Given the description of an element on the screen output the (x, y) to click on. 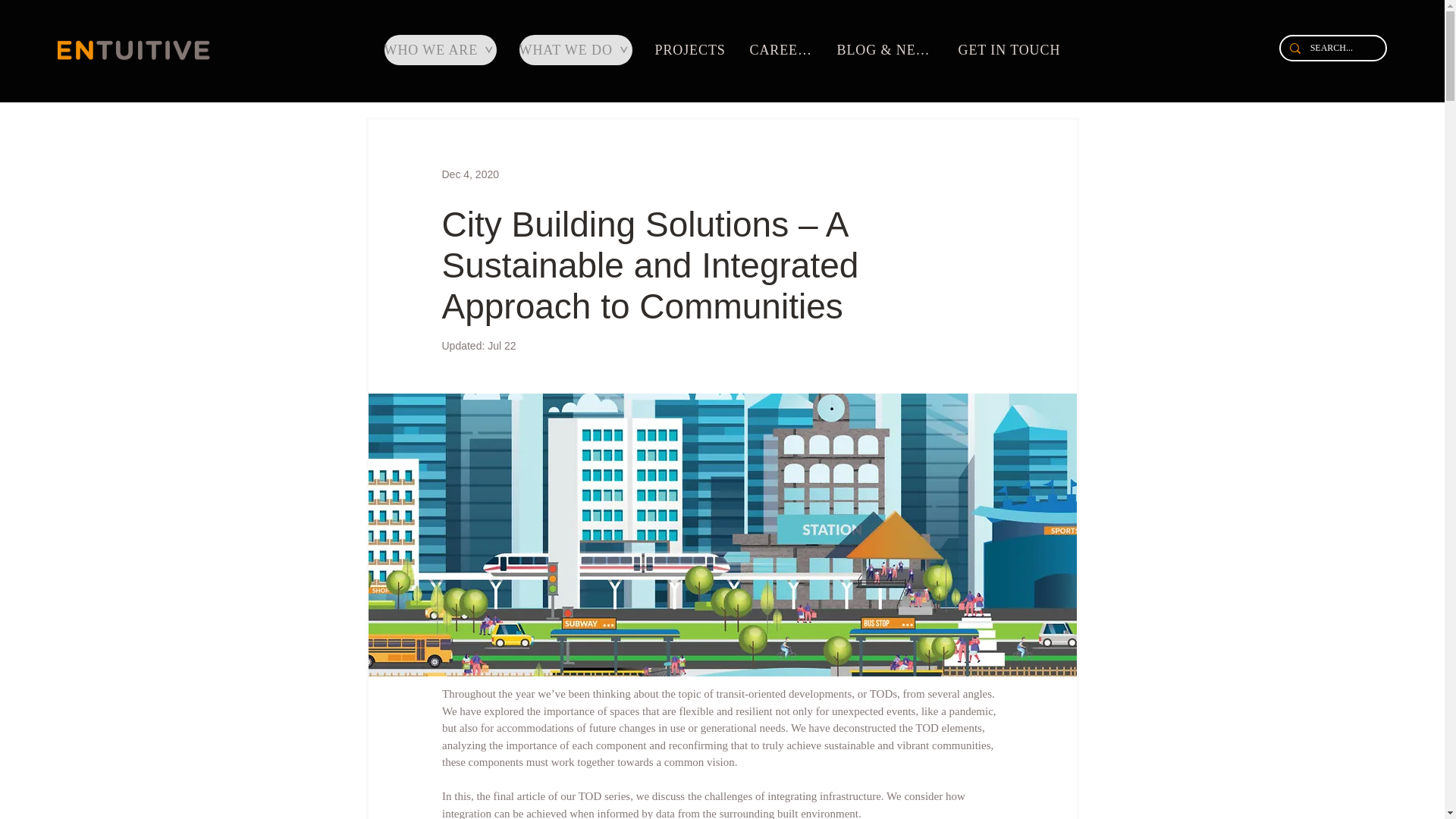
PROJECTS (692, 50)
Jul 22 (501, 345)
GET IN TOUCH (1011, 50)
CAREERS (782, 50)
Dec 4, 2020 (470, 174)
WHO WE ARE (440, 50)
WHAT WE DO (574, 50)
